Given the description of an element on the screen output the (x, y) to click on. 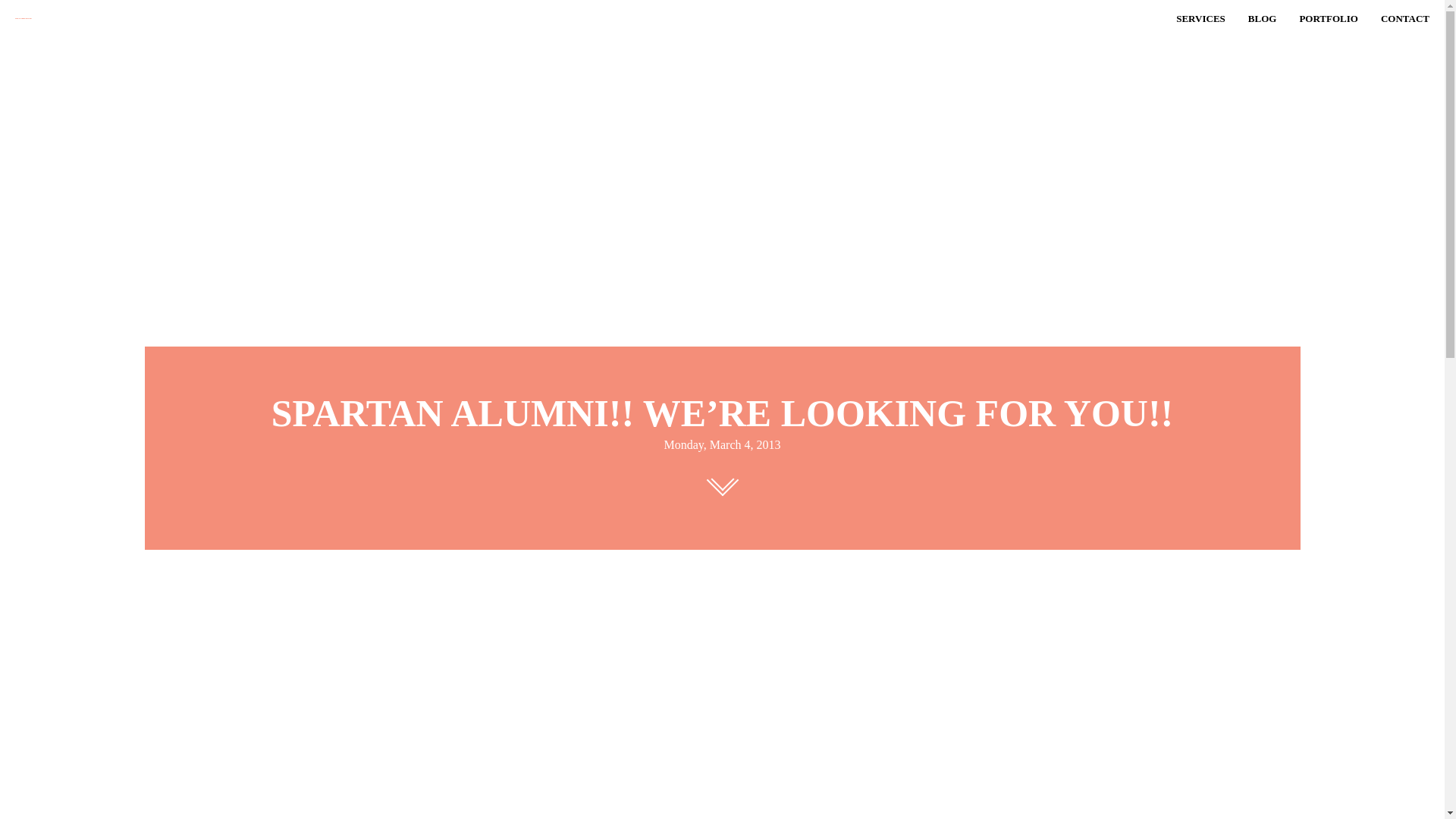
CONTACT (1404, 18)
BLOG (1261, 18)
PORTFOLIO (1328, 18)
SERVICES (1200, 18)
GET CREATIVE (128, 18)
